Given the description of an element on the screen output the (x, y) to click on. 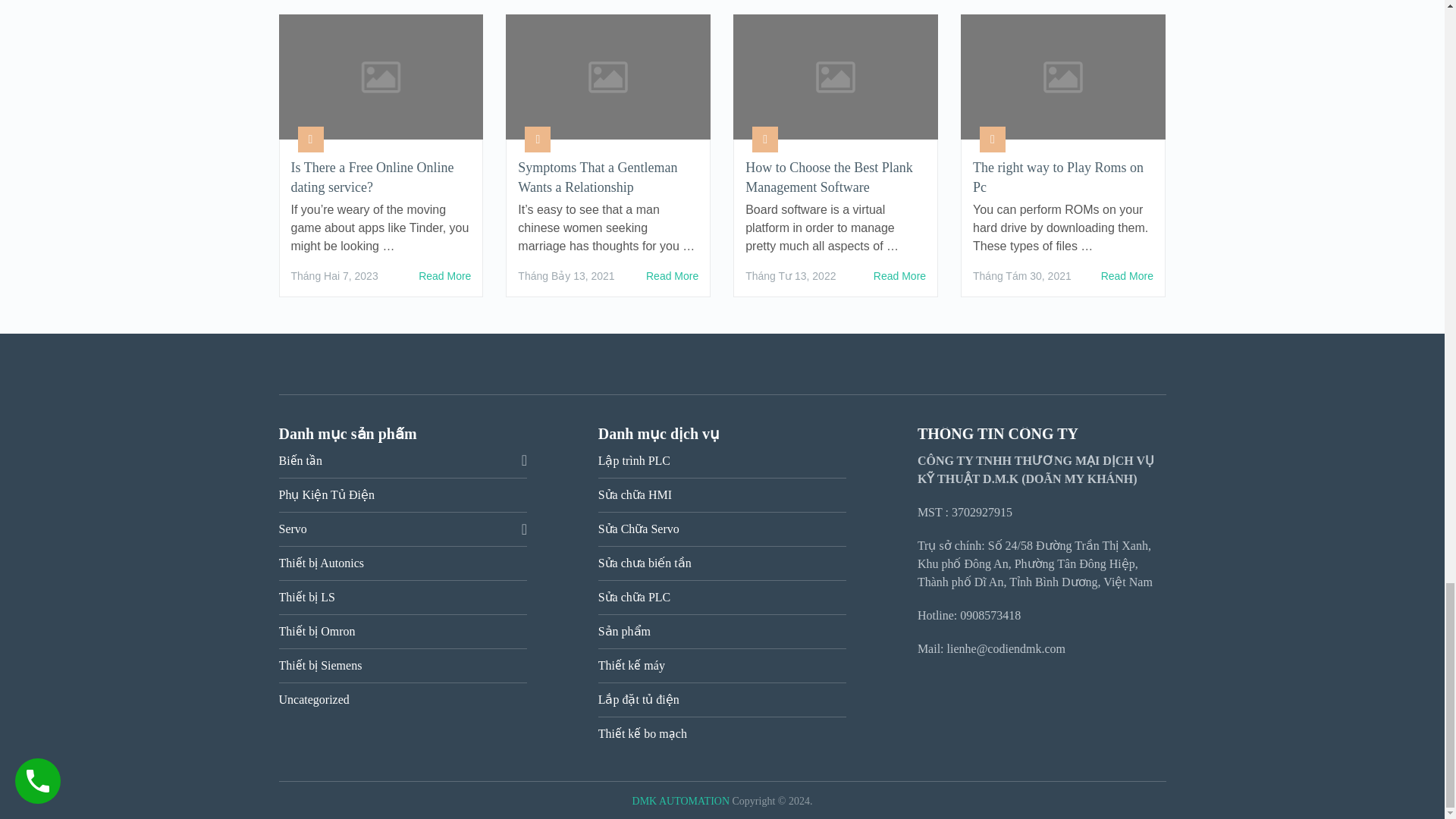
The right way to Play Roms on Pc (1126, 275)
How to Choose the Best Plank Management Software (899, 275)
Is There a Free Online Online dating service? (444, 275)
How to Choose the Best Plank Management Software (835, 177)
The right way to Play Roms on Pc (1062, 177)
Symptoms That a Gentleman Wants a Relationship (672, 275)
Symptoms That a Gentleman Wants a Relationship (608, 177)
Is There a Free Online Online dating service? (381, 177)
